Given the description of an element on the screen output the (x, y) to click on. 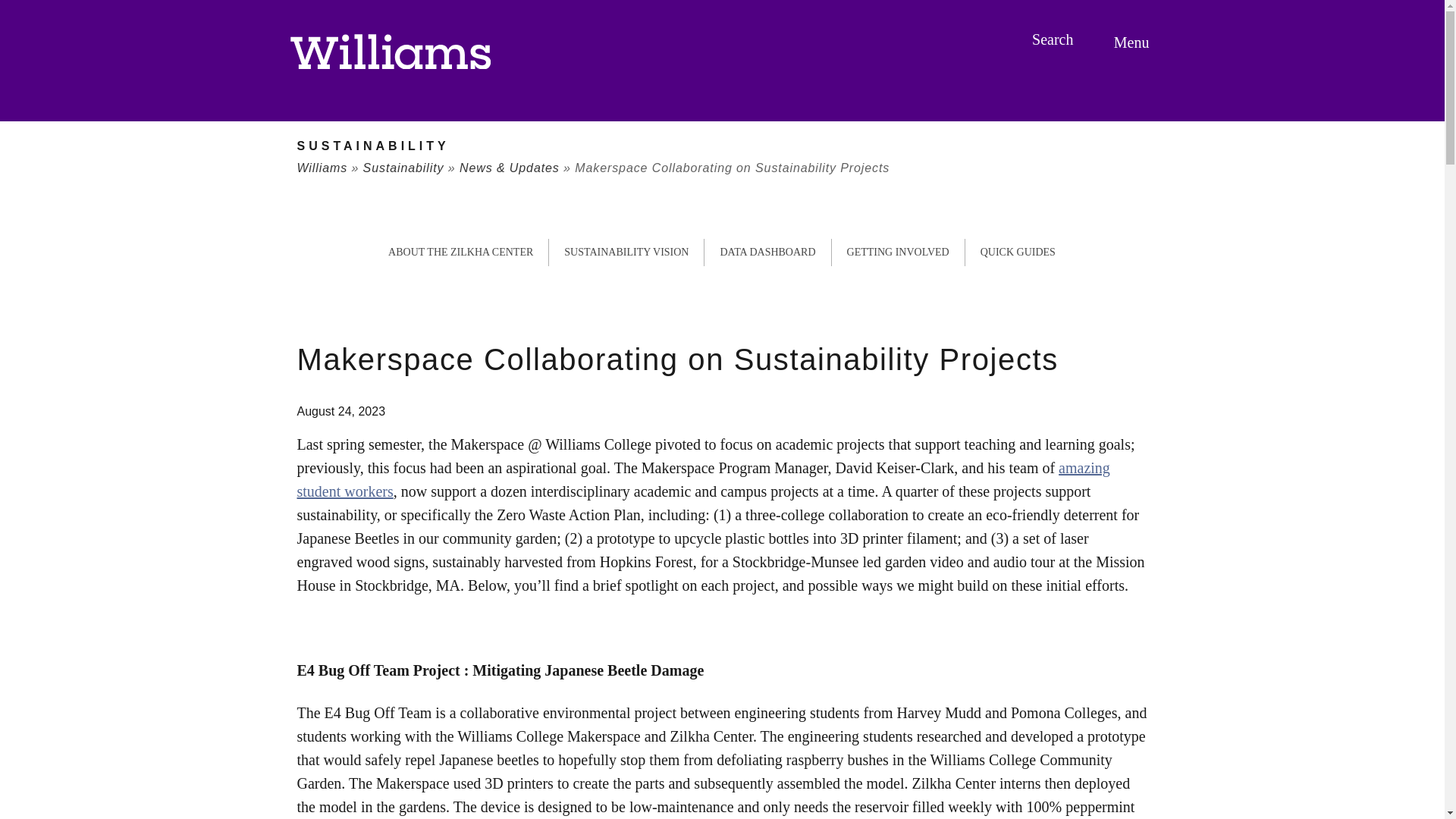
Menu (1134, 41)
Go to Williams College Home (389, 51)
Search (1054, 38)
